Given the description of an element on the screen output the (x, y) to click on. 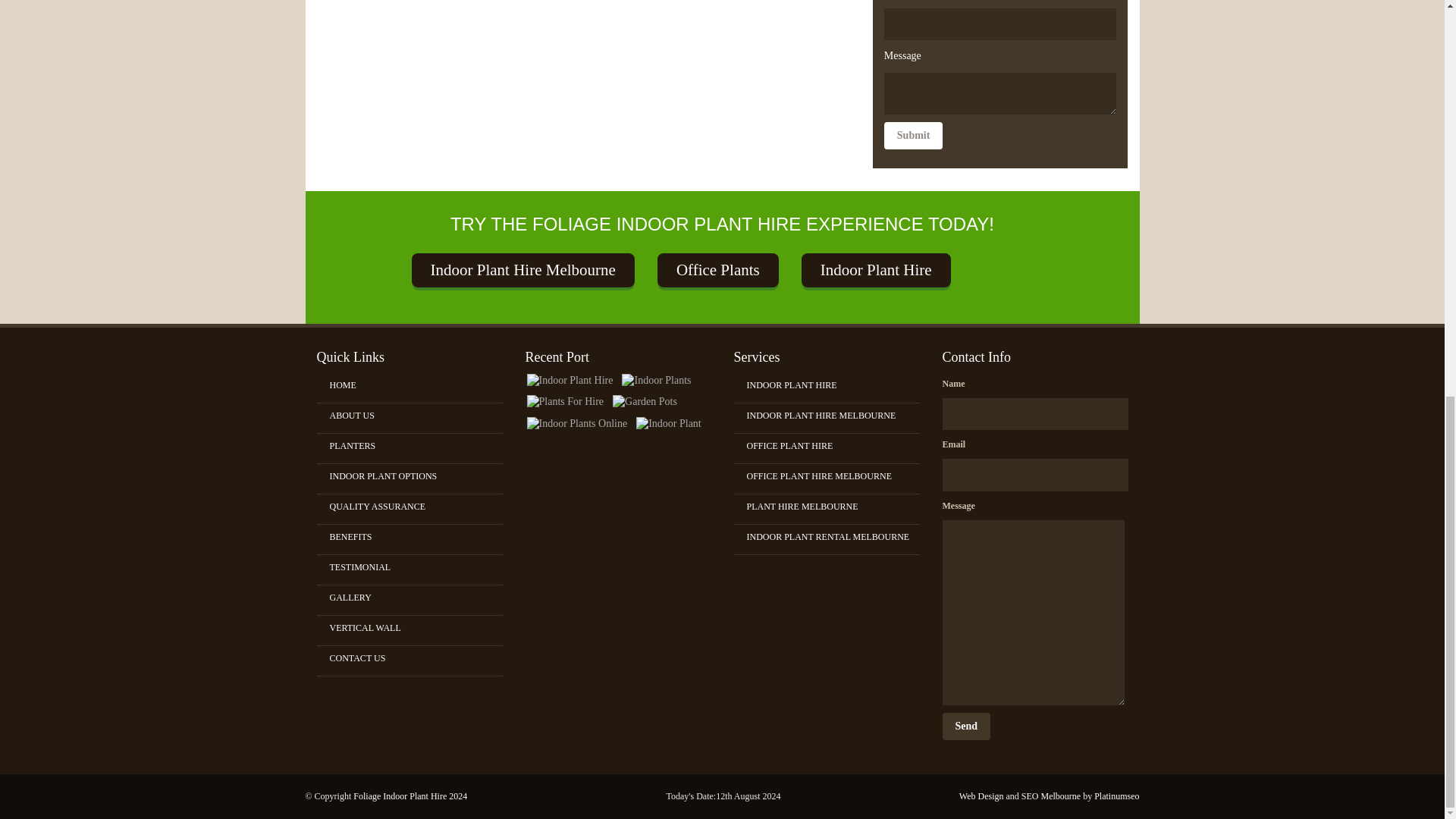
Indoor Plant Hire (876, 269)
VERTICAL WALL (415, 627)
PLANT HIRE MELBOURNE (831, 506)
INDOOR PLANT OPTIONS (415, 476)
Indoor Plant Hire Melbourne (521, 269)
Office Plants (718, 269)
INDOOR PLANT HIRE (831, 385)
TESTIMONIAL (415, 567)
HOME (415, 385)
Office Plants (718, 269)
